Given the description of an element on the screen output the (x, y) to click on. 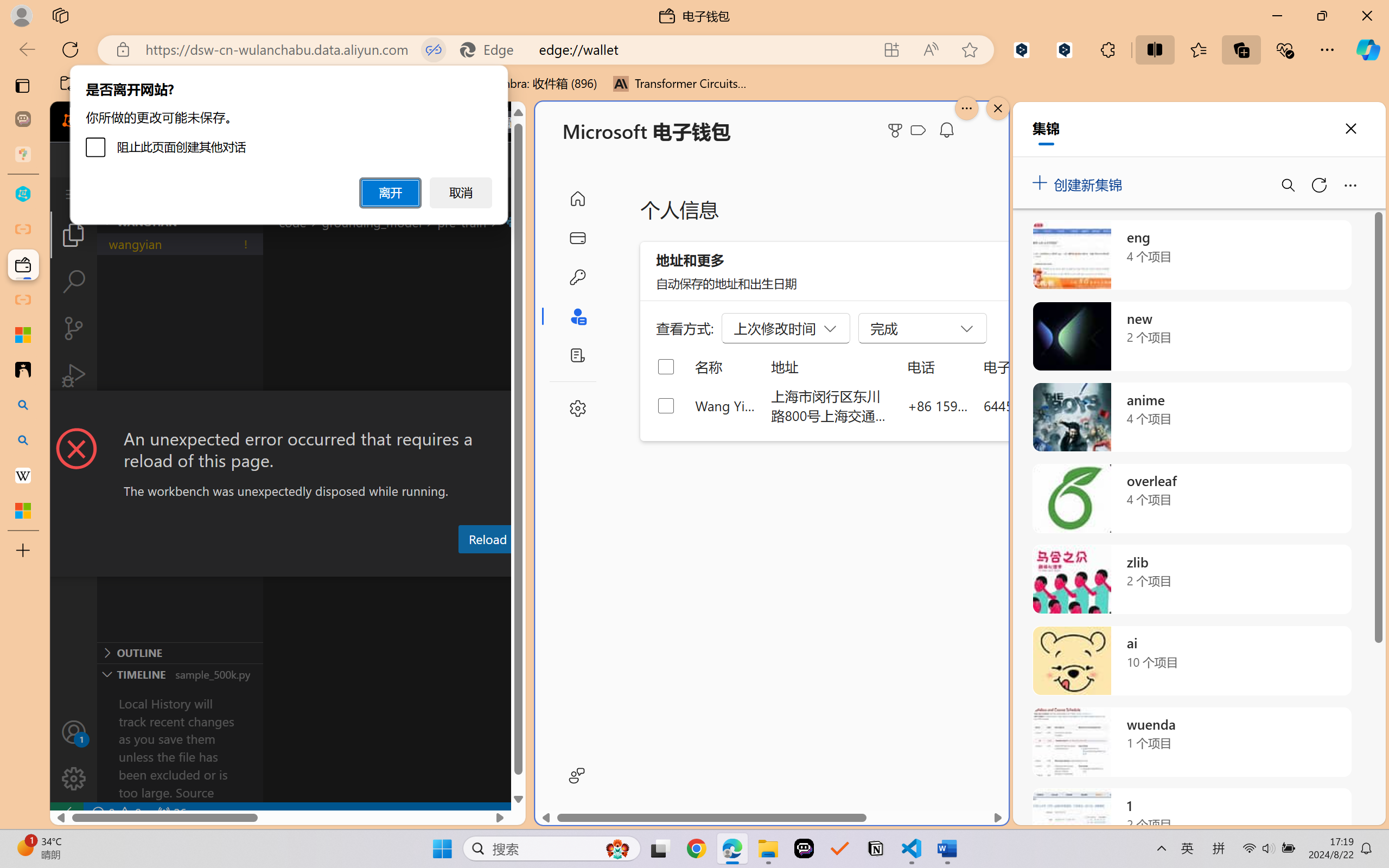
Adjust indents and spacing - Microsoft Support (22, 334)
Google Chrome (696, 848)
Microsoft Rewards (896, 129)
